Given the description of an element on the screen output the (x, y) to click on. 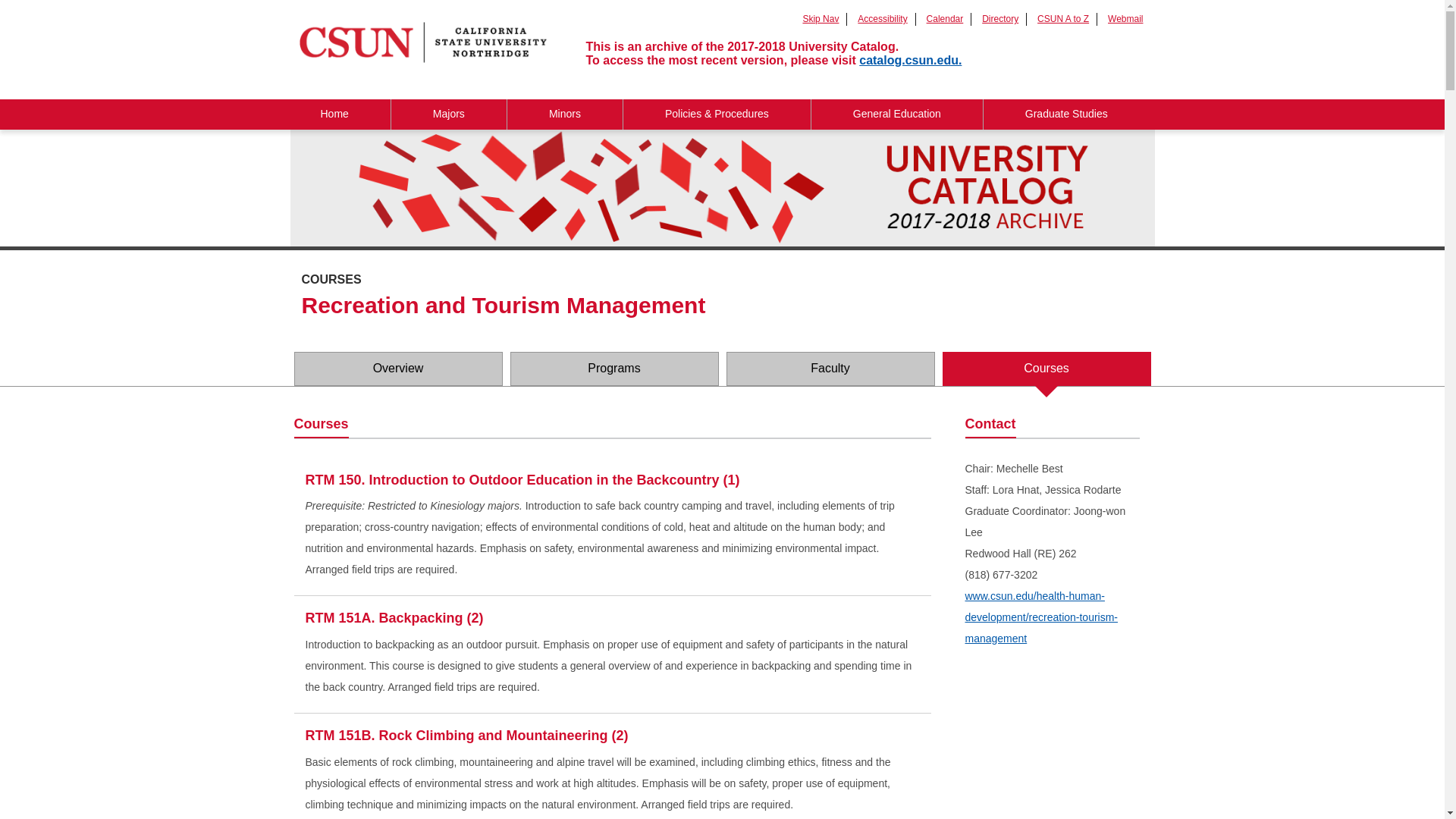
Calendar (944, 18)
Skip Nav (820, 18)
Graduate Studies (1067, 114)
Minors (564, 114)
catalog.csun.edu. (909, 60)
Overview (398, 368)
Directory (999, 18)
Webmail (1125, 18)
Home (334, 114)
Faculty (830, 368)
Programs (613, 368)
Accessibility (882, 18)
Courses (1046, 368)
Majors (448, 114)
General Education (896, 114)
